Given the description of an element on the screen output the (x, y) to click on. 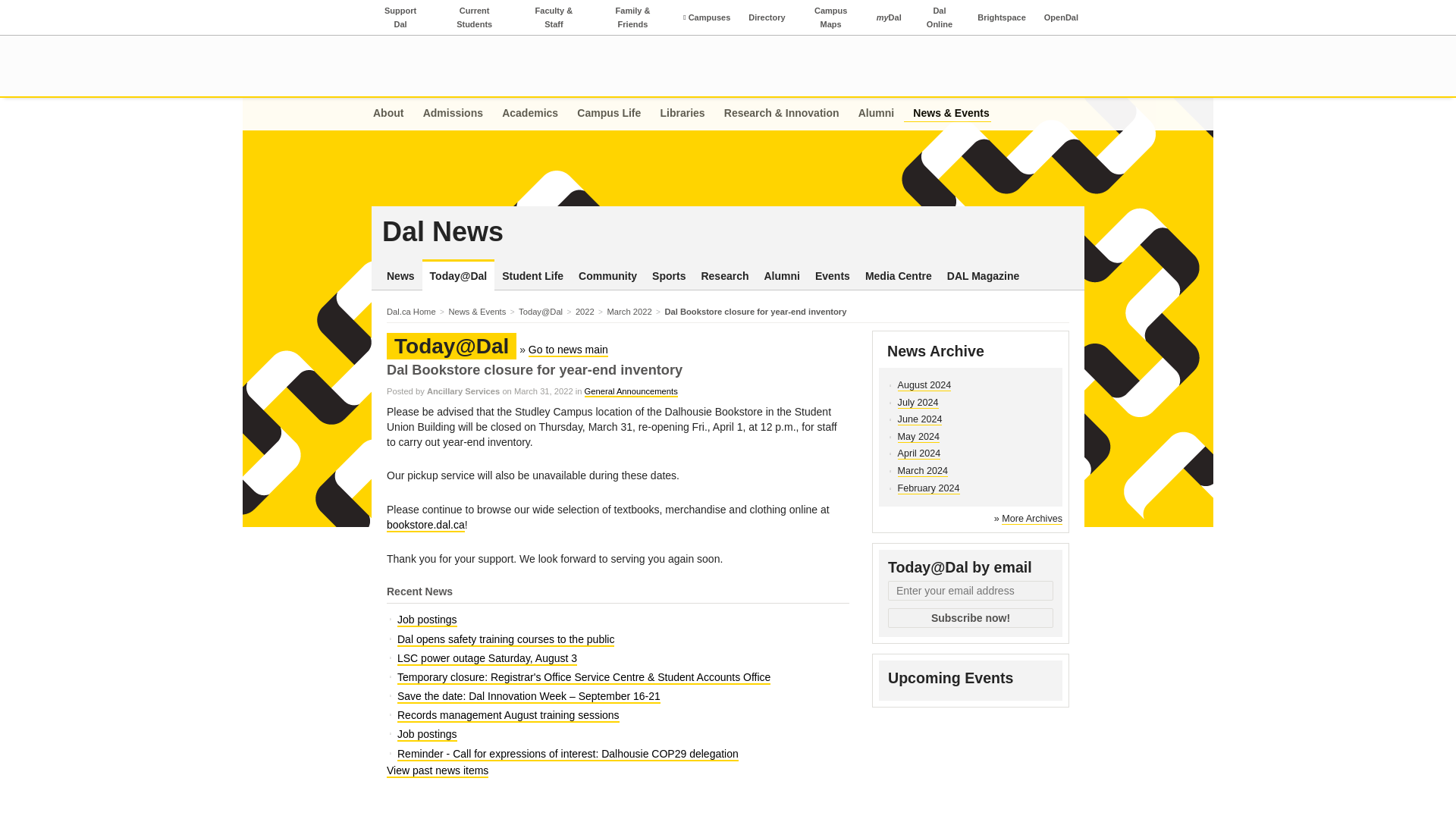
Research (724, 276)
Brightspace (1001, 17)
Admissions (453, 114)
Back to Dalhousie University Home Page (438, 65)
Campus Life (608, 114)
Student Life (532, 276)
Directory (766, 17)
Dal News (727, 232)
Campus Maps (888, 17)
Academics (830, 17)
Community (530, 114)
Dalhousie University (607, 276)
Support Dal (438, 65)
Campuses (400, 17)
